Given the description of an element on the screen output the (x, y) to click on. 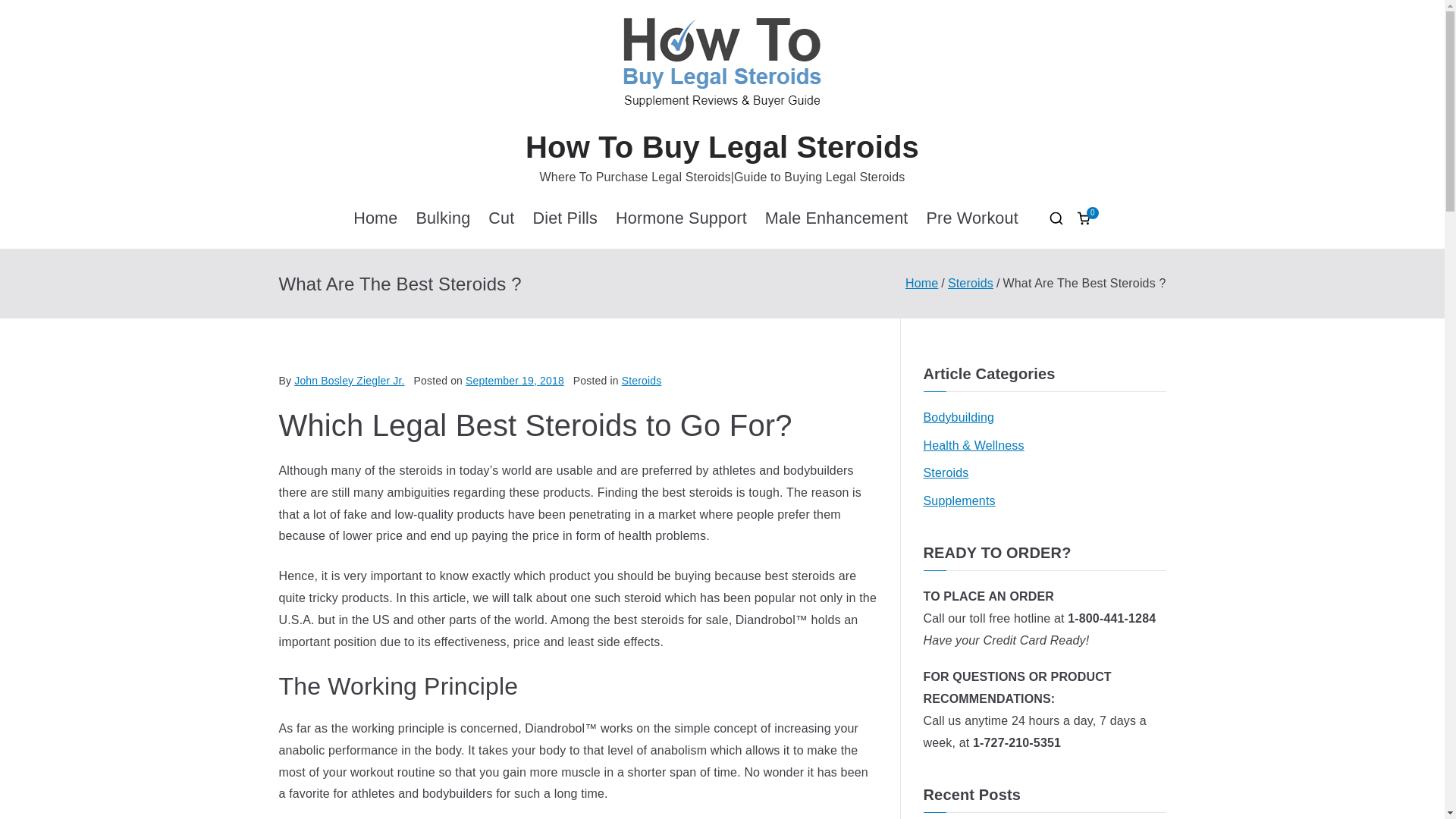
John Bosley Ziegler Jr. (349, 380)
Search (26, 12)
September 19, 2018 (514, 380)
Steroids (641, 380)
Home (921, 282)
Diet Pills (564, 218)
Home (375, 218)
Steroids (969, 282)
View your shopping cart (1082, 218)
0 (1082, 218)
